Given the description of an element on the screen output the (x, y) to click on. 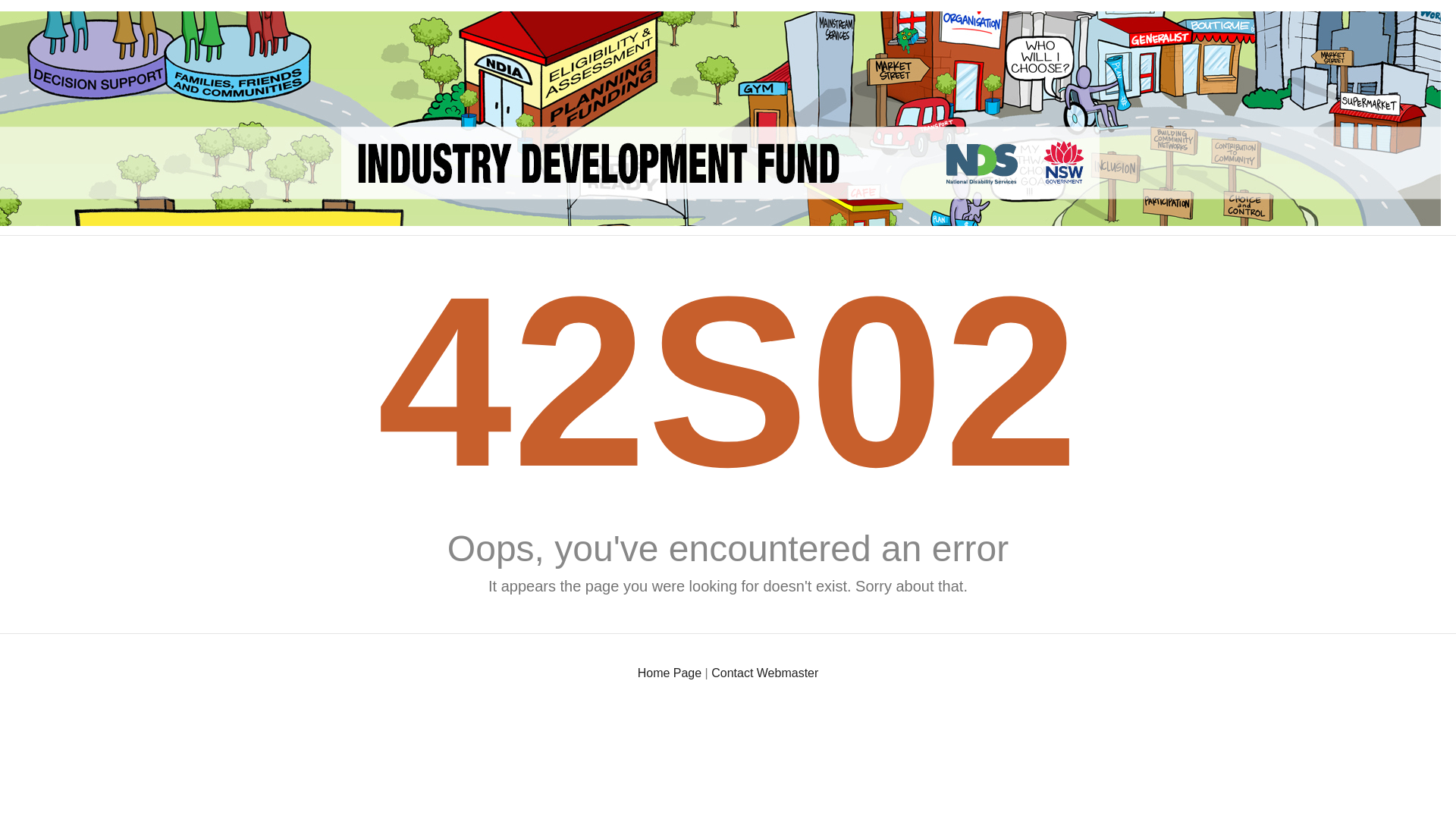
Home Page Element type: text (669, 672)
Contact Webmaster Element type: text (764, 672)
